Given the description of an element on the screen output the (x, y) to click on. 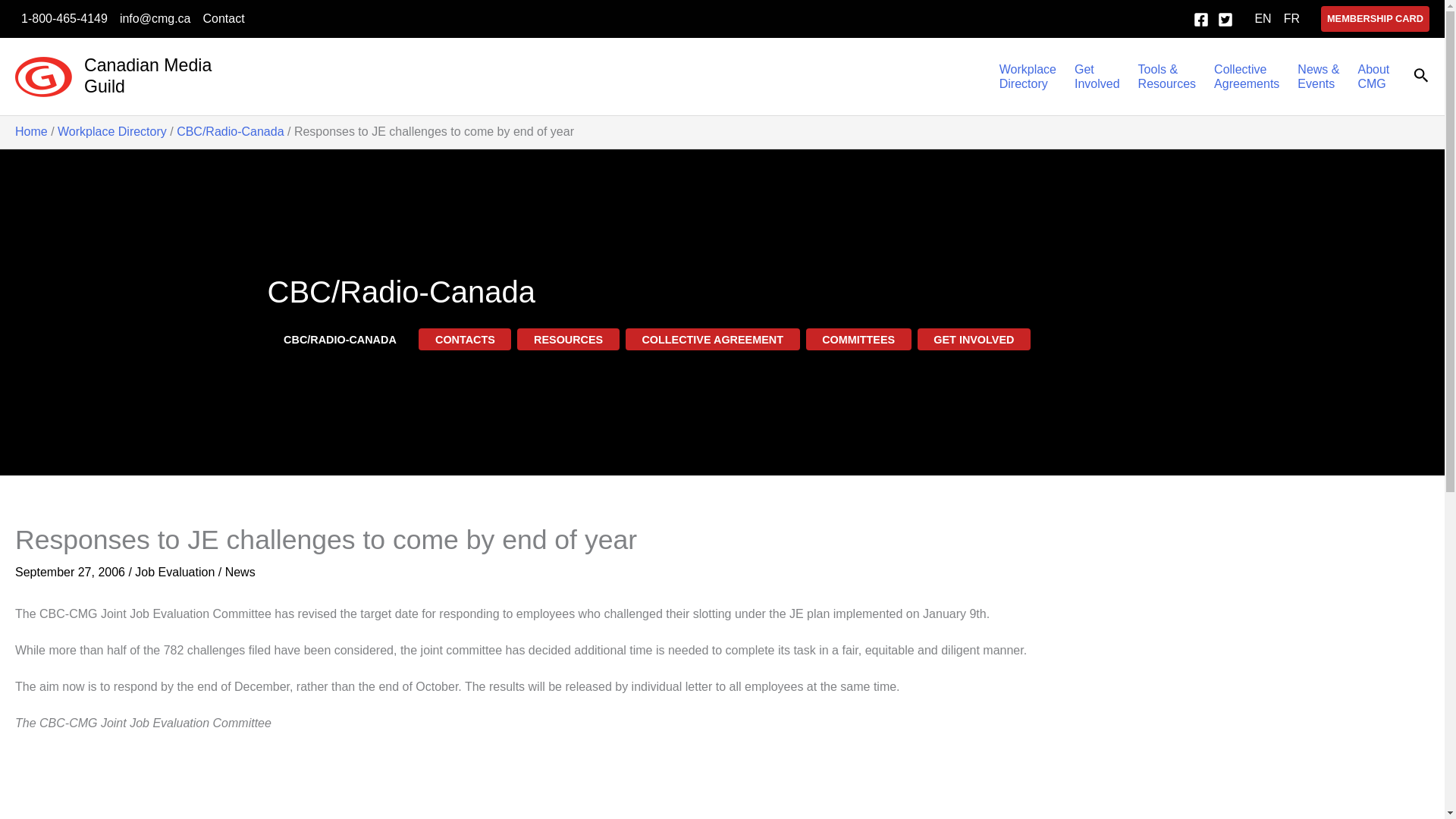
Contact (223, 18)
MEMBERSHIP CARD (1374, 18)
Canadian Media Guild (1027, 76)
1-800-465-4149 (147, 75)
